Given the description of an element on the screen output the (x, y) to click on. 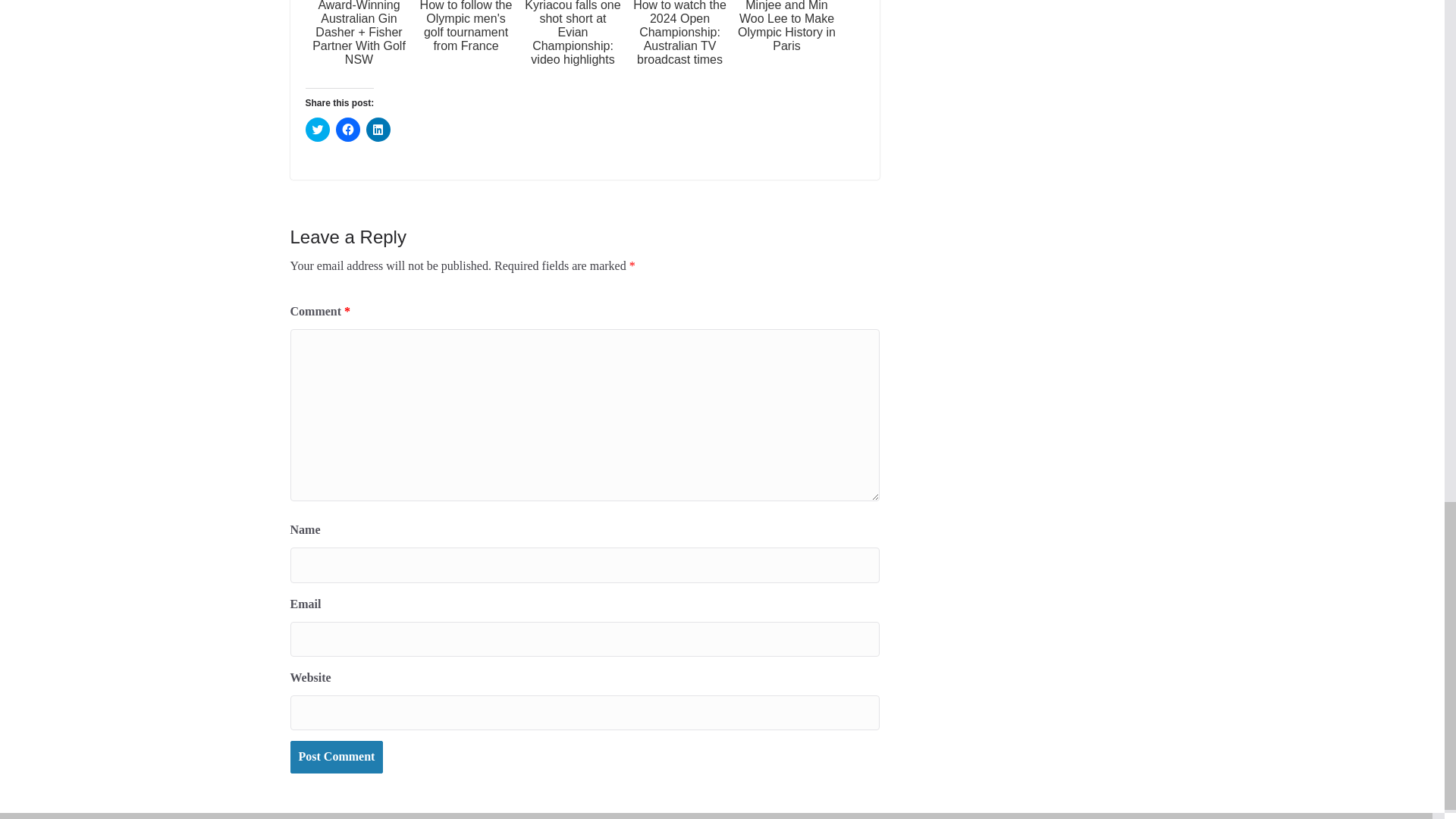
Click to share on Facebook (346, 129)
Minjee and Min Woo Lee to Make Olympic History in Paris (786, 42)
Post Comment (335, 757)
How to follow the Olympic men's golf tournament from France (465, 42)
Click to share on LinkedIn (377, 129)
Post Comment (335, 757)
Click to share on Twitter (316, 129)
